Given the description of an element on the screen output the (x, y) to click on. 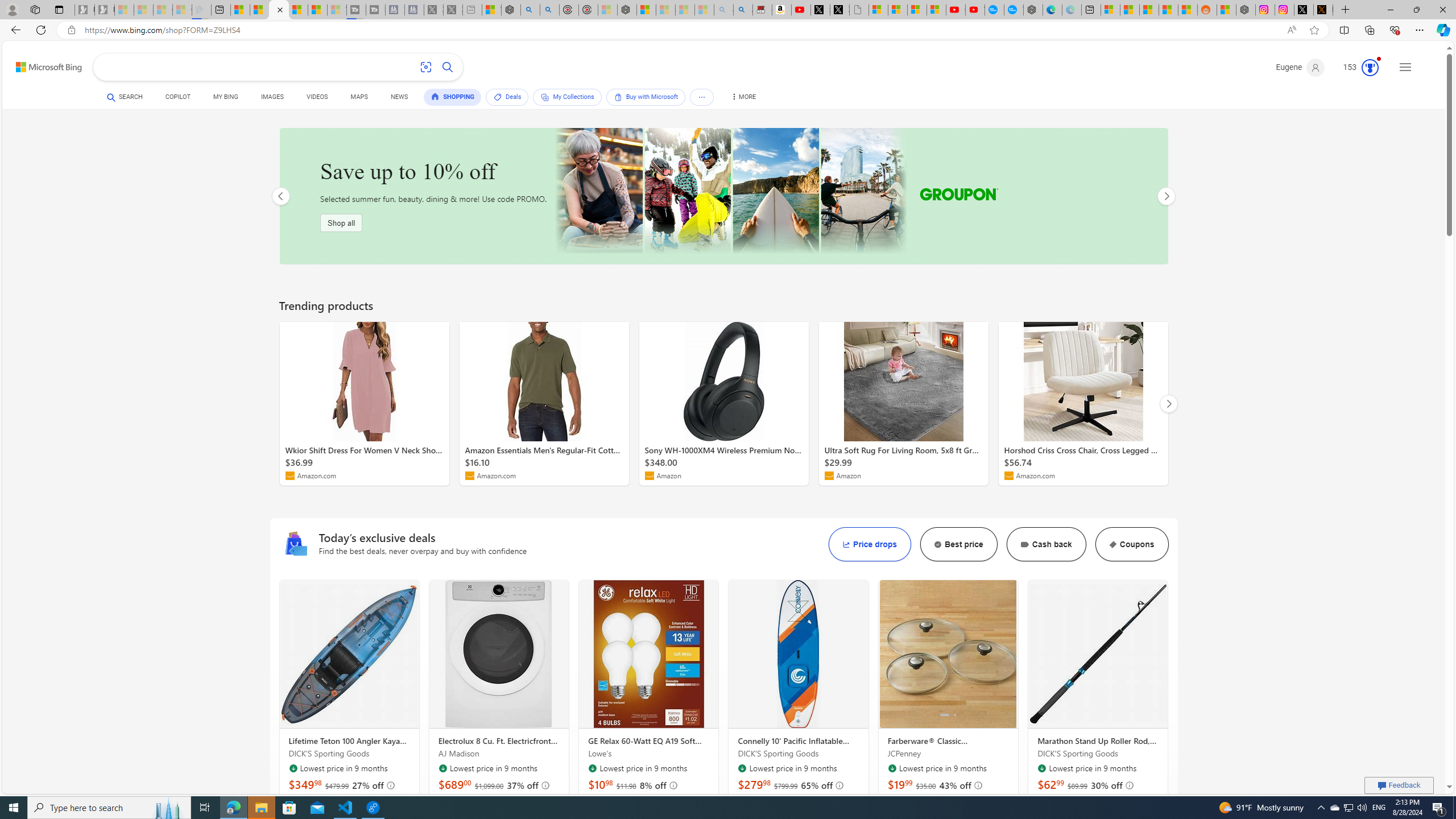
Electrolux 8 Cu. Ft. Electricfront Load Dryer EFDE317TIW (499, 740)
Buy with Microsoft (645, 96)
Marathon Stand Up Roller Rod, Aluminum (1097, 653)
Microsoft account | Microsoft Account Privacy Settings (1110, 9)
COPILOT (178, 98)
See more (702, 97)
My Collections (566, 96)
Address and search bar (680, 29)
New tab - Sleeping (471, 9)
SEARCH (124, 96)
